Given the description of an element on the screen output the (x, y) to click on. 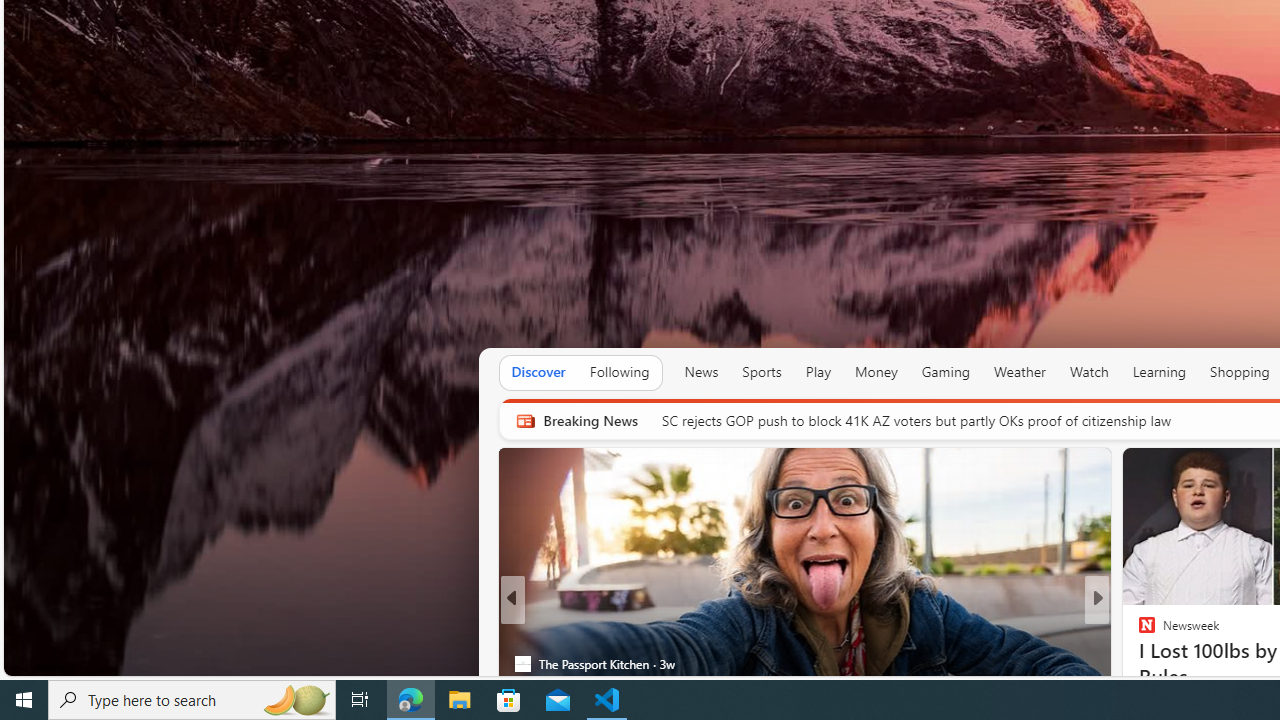
Learning (1159, 372)
HowToGeek (1138, 663)
Sports (761, 371)
Learning (1159, 371)
Gaming (945, 371)
Metro (522, 632)
Watch (1089, 372)
Sports (761, 372)
Body Network (1138, 632)
INSIDER (1138, 632)
Play (817, 371)
Komando (1138, 632)
Money (876, 372)
